Given the description of an element on the screen output the (x, y) to click on. 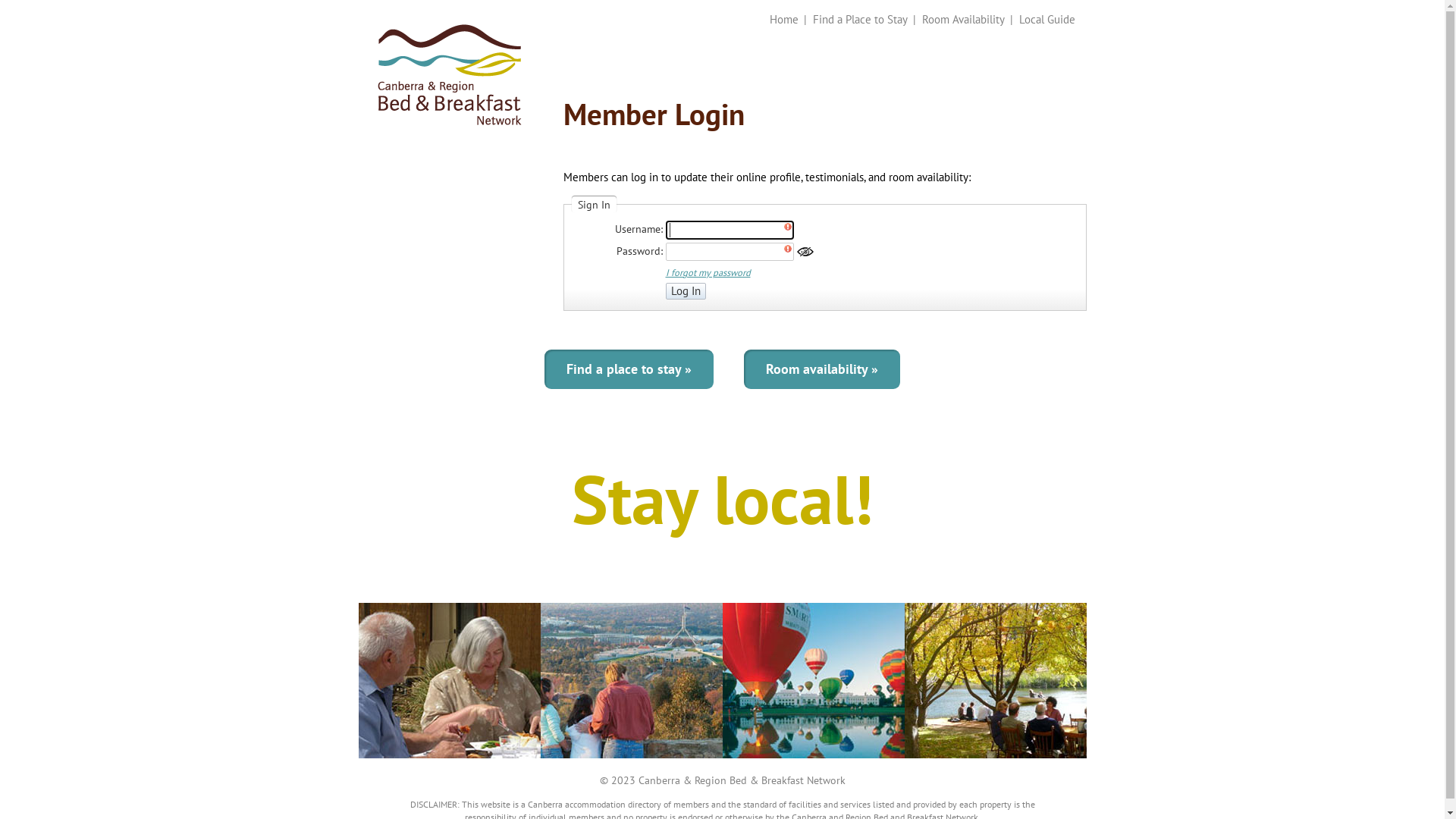
I forgot my password Element type: text (707, 272)
Find a Place to Stay Element type: text (859, 19)
Local Guide Element type: text (1047, 19)
Find a place to stay Element type: text (628, 369)
Home Element type: text (782, 19)
Log In Element type: text (685, 291)
Room availability Element type: text (821, 369)
make password visible Element type: hover (804, 251)
Room Availability Element type: text (963, 19)
